Given the description of an element on the screen output the (x, y) to click on. 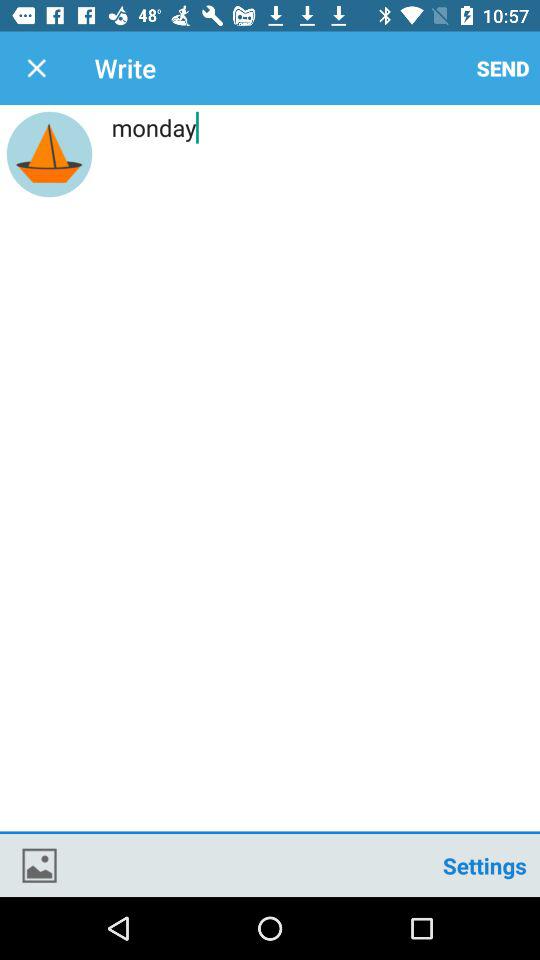
turn on the send item (503, 67)
